Given the description of an element on the screen output the (x, y) to click on. 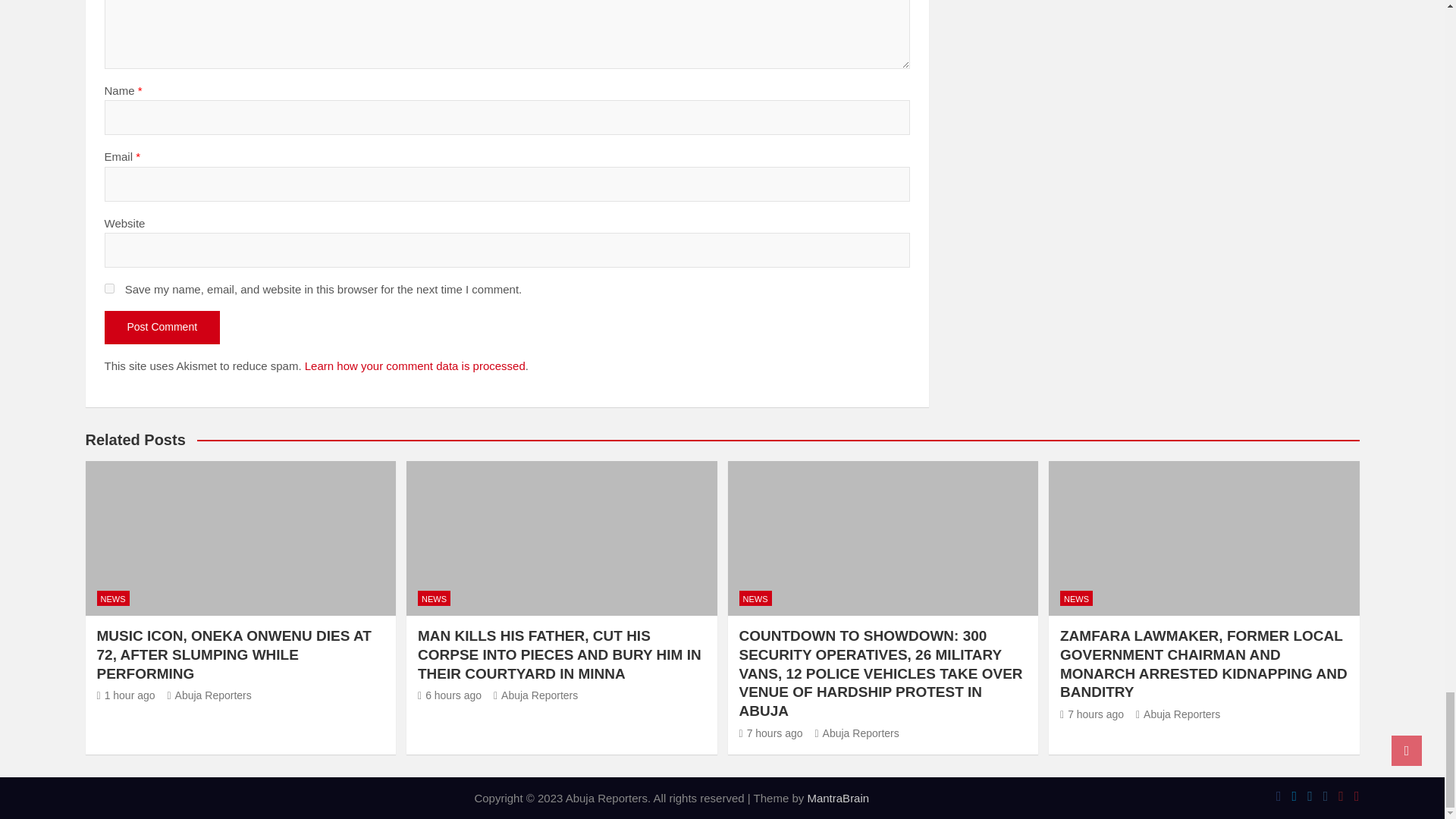
Learn how your comment data is processed (414, 365)
Post Comment (162, 327)
NEWS (113, 598)
NEWS (433, 598)
yes (109, 288)
MantraBrain (837, 797)
Abuja Reporters (208, 695)
Post Comment (162, 327)
1 hour ago (126, 695)
